Given the description of an element on the screen output the (x, y) to click on. 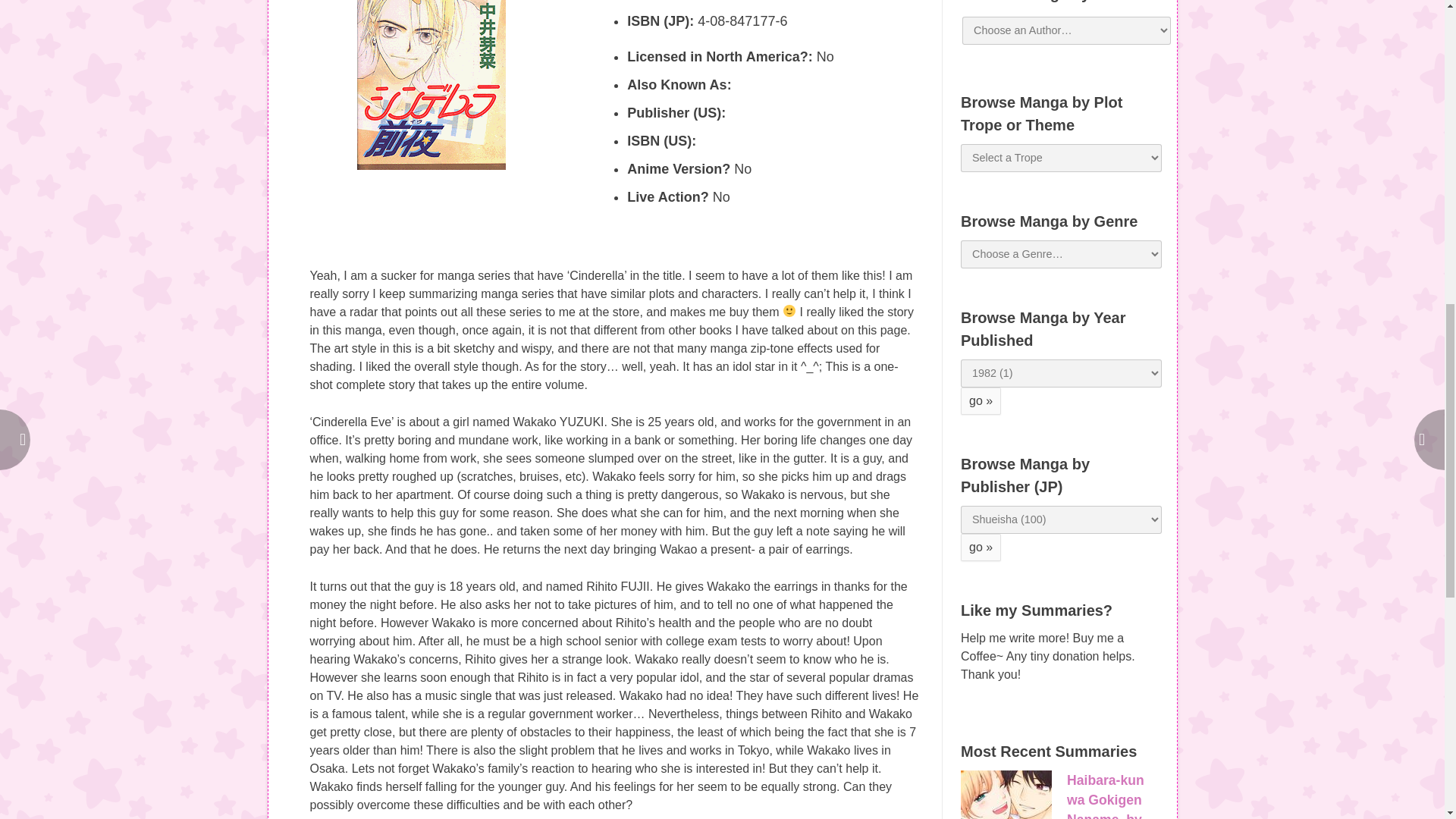
Haibara-kun wa Gokigen Naname, by HATTA Ayuko (1110, 796)
Haibara-kun wa Gokigen Naname, by HATTA Ayuko (1110, 796)
Haibara-kun wa Gokigen Naname, by HATTA Ayuko (1005, 794)
